Given the description of an element on the screen output the (x, y) to click on. 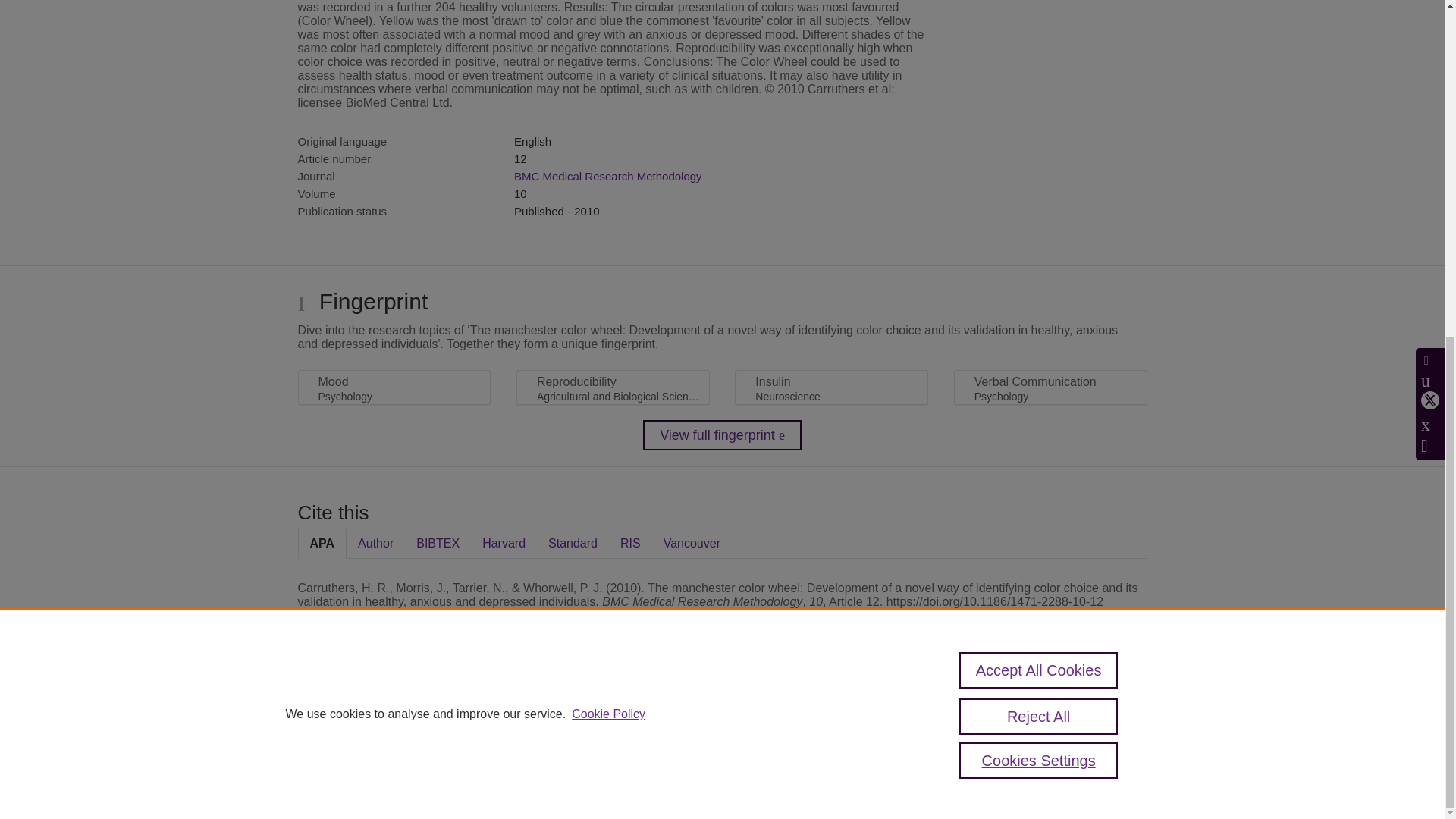
Cookies Settings (334, 780)
Scopus (394, 707)
BMC Medical Research Methodology (607, 175)
View full fingerprint (722, 435)
Pure (362, 707)
use of cookies (796, 759)
Elsevier B.V. (506, 727)
